Given the description of an element on the screen output the (x, y) to click on. 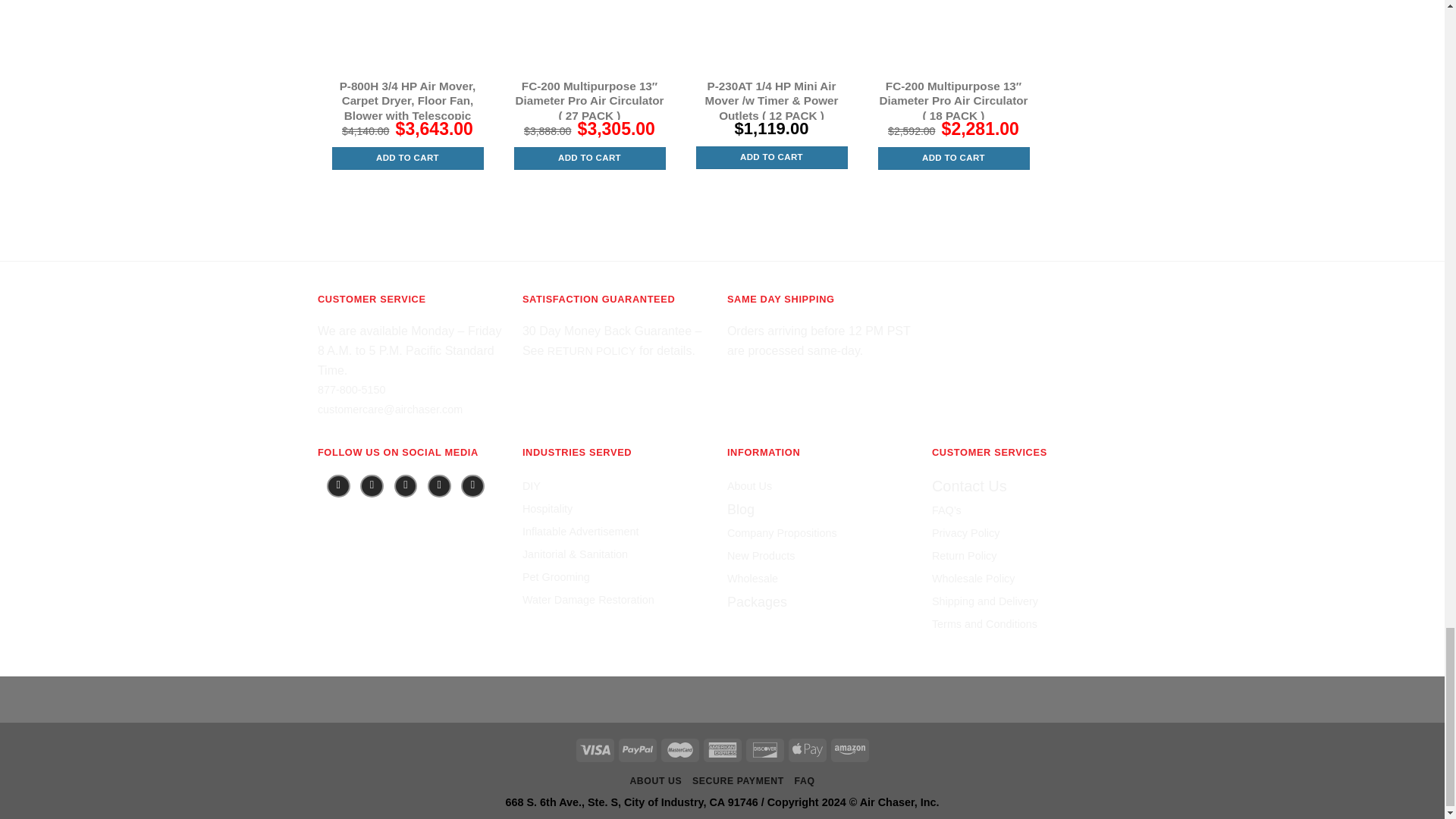
Follow on Facebook (338, 486)
Follow on Twitter (405, 486)
Follow on Instagram (371, 486)
Subscribe to RSS (472, 486)
Follow on Pinterest (439, 486)
